Given the description of an element on the screen output the (x, y) to click on. 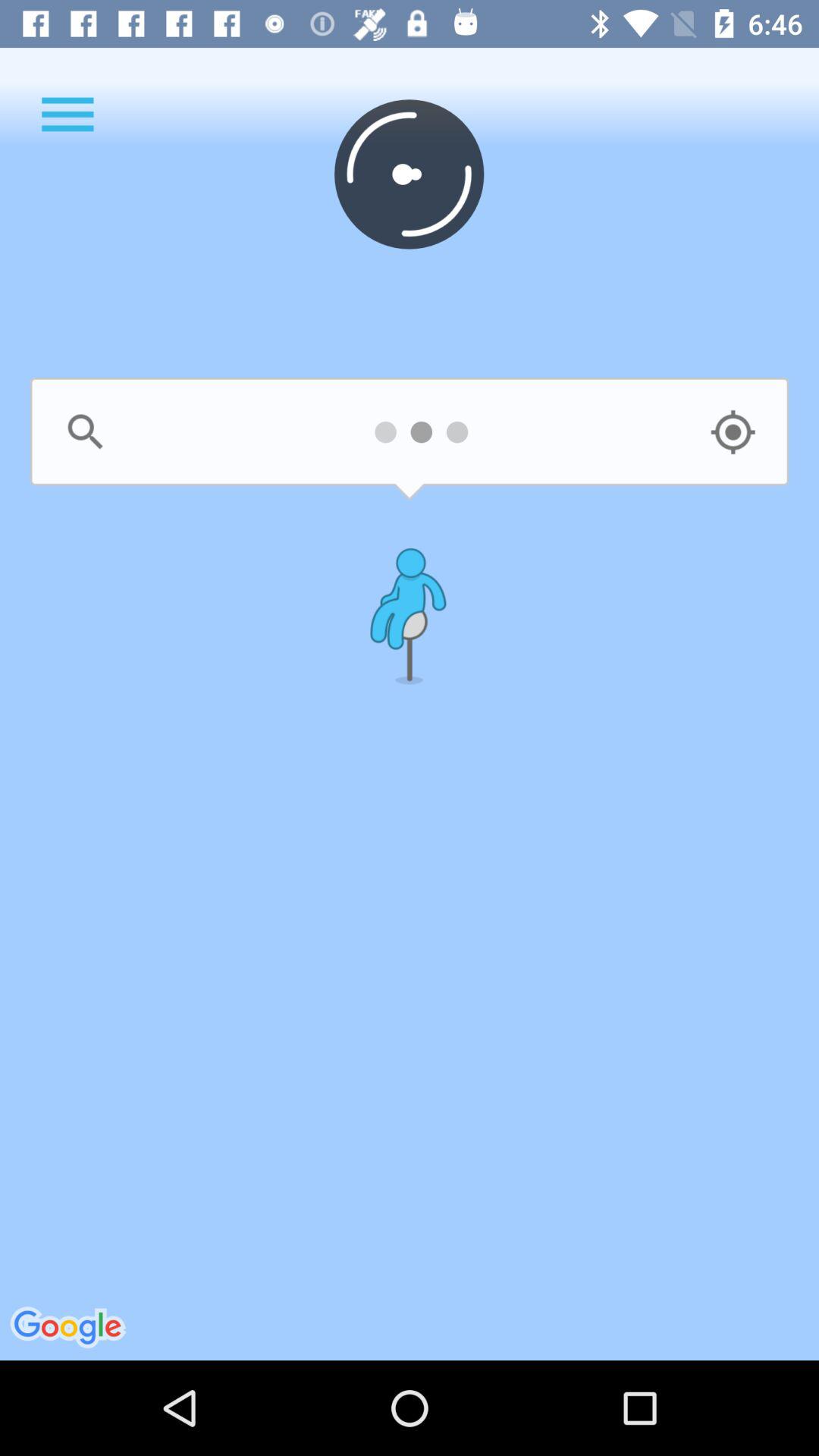
watching semple (732, 432)
